Given the description of an element on the screen output the (x, y) to click on. 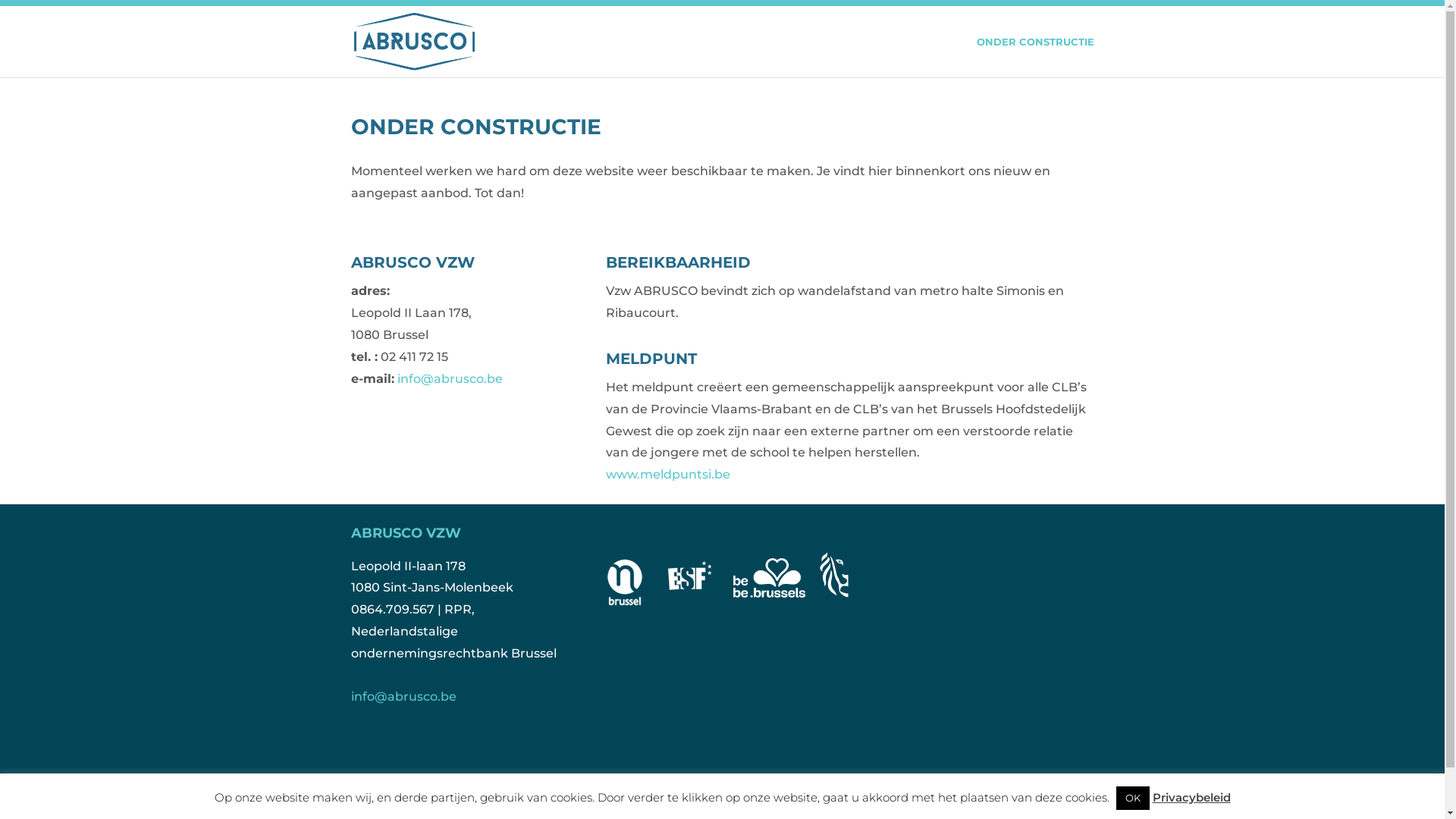
PRIVACYBELEID Element type: text (394, 795)
Privacybeleid Element type: text (1191, 797)
www.meldpuntsi.be Element type: text (667, 474)
info@abrusco.be Element type: text (402, 696)
info@abrusco.be Element type: text (449, 378)
ONDER CONSTRUCTIE Element type: text (1035, 56)
OK Element type: text (1132, 797)
